Given the description of an element on the screen output the (x, y) to click on. 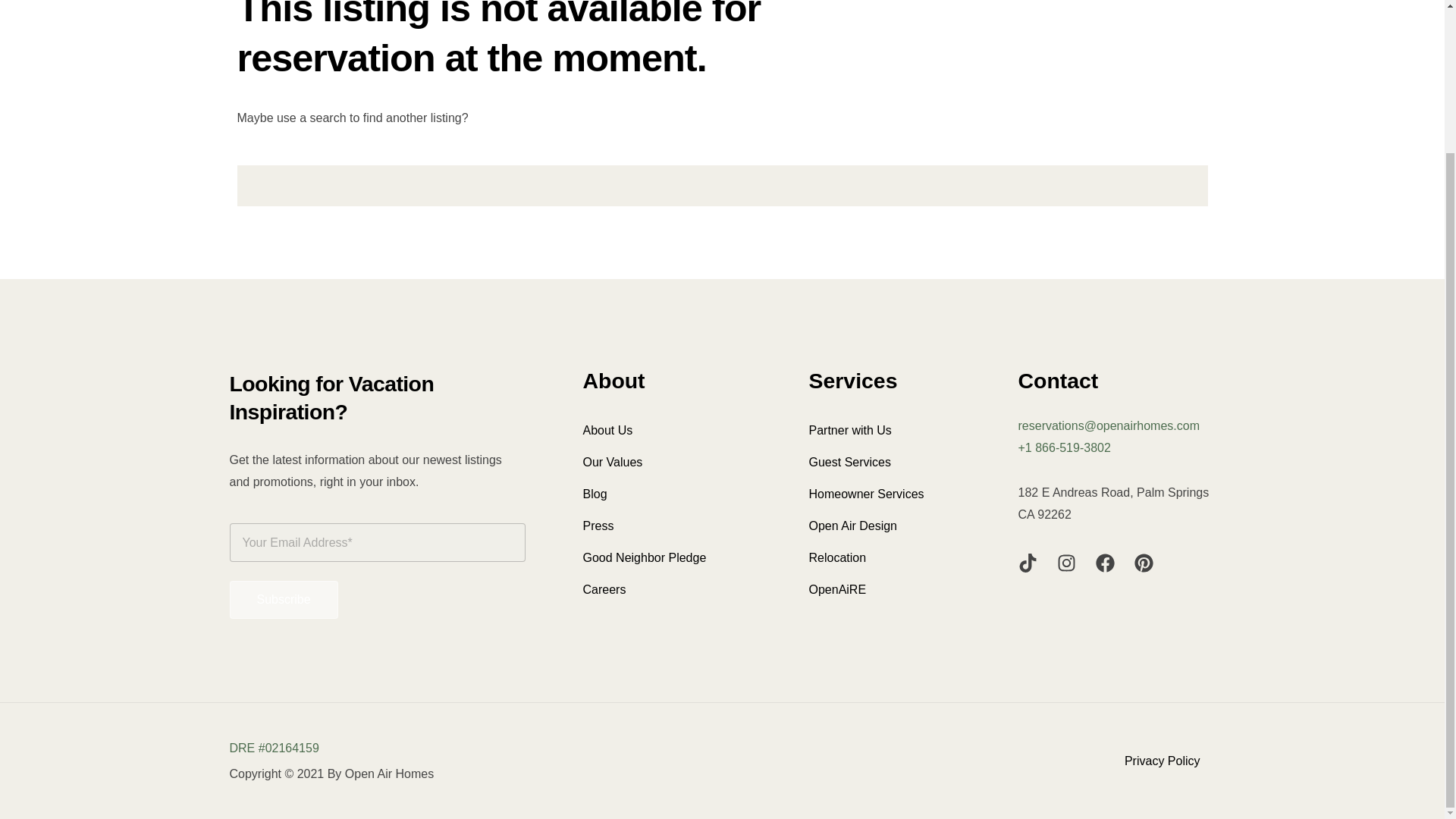
Our Values (676, 462)
Blog (676, 494)
Subscribe (282, 599)
Press (676, 526)
Good Neighbor Pledge (676, 558)
About Us (676, 430)
Careers (676, 590)
Subscribe (282, 599)
